Given the description of an element on the screen output the (x, y) to click on. 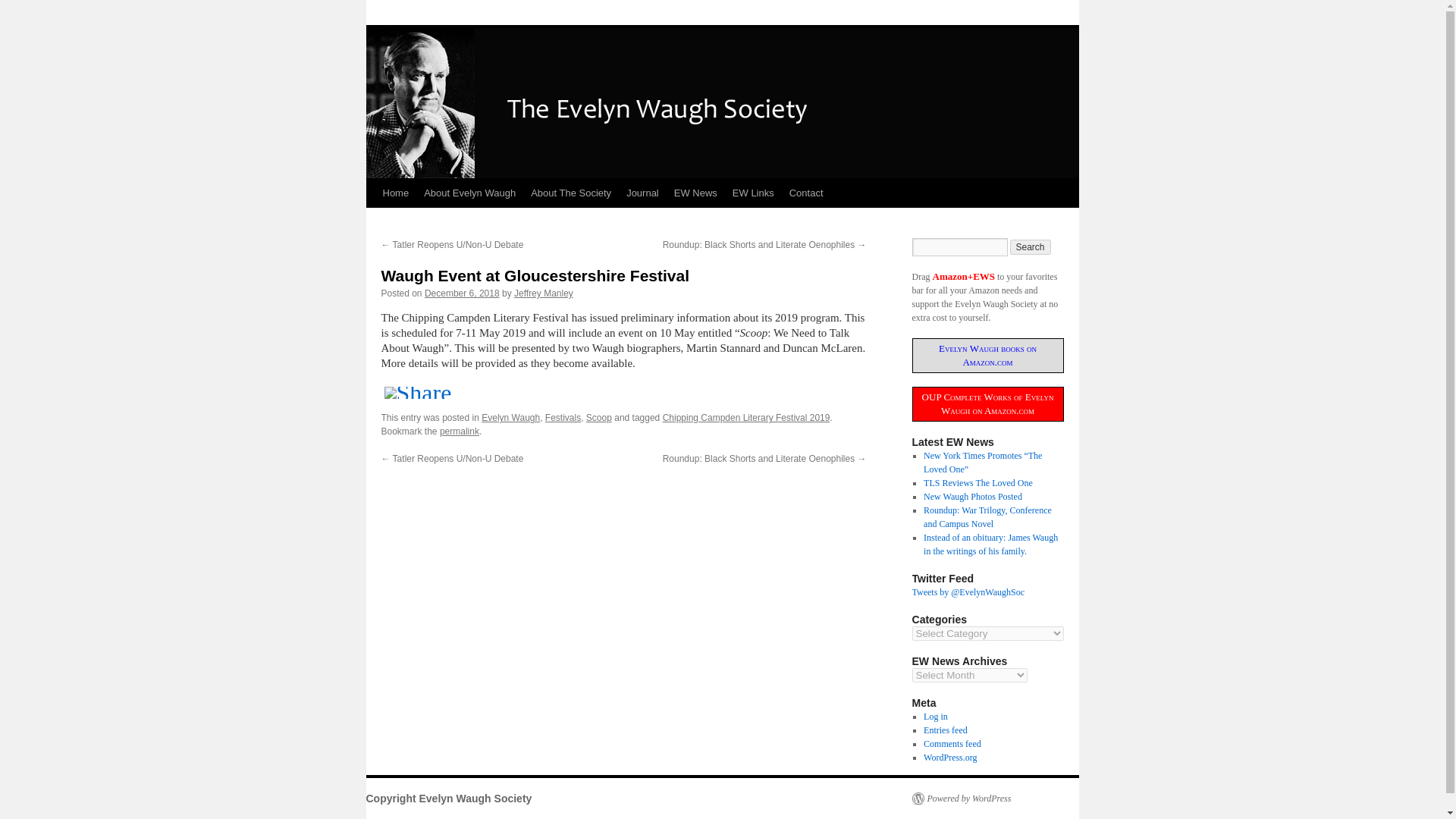
Contact (806, 193)
Evelyn Waugh (510, 417)
Roundup: War Trilogy, Conference and Campus Novel (987, 517)
Search (1030, 246)
permalink (459, 430)
Jeffrey Manley (543, 293)
December 6, 2018 (462, 293)
EW Links (753, 193)
OUP Complete Works of Evelyn Waugh on Amazon.com (987, 404)
